Given the description of an element on the screen output the (x, y) to click on. 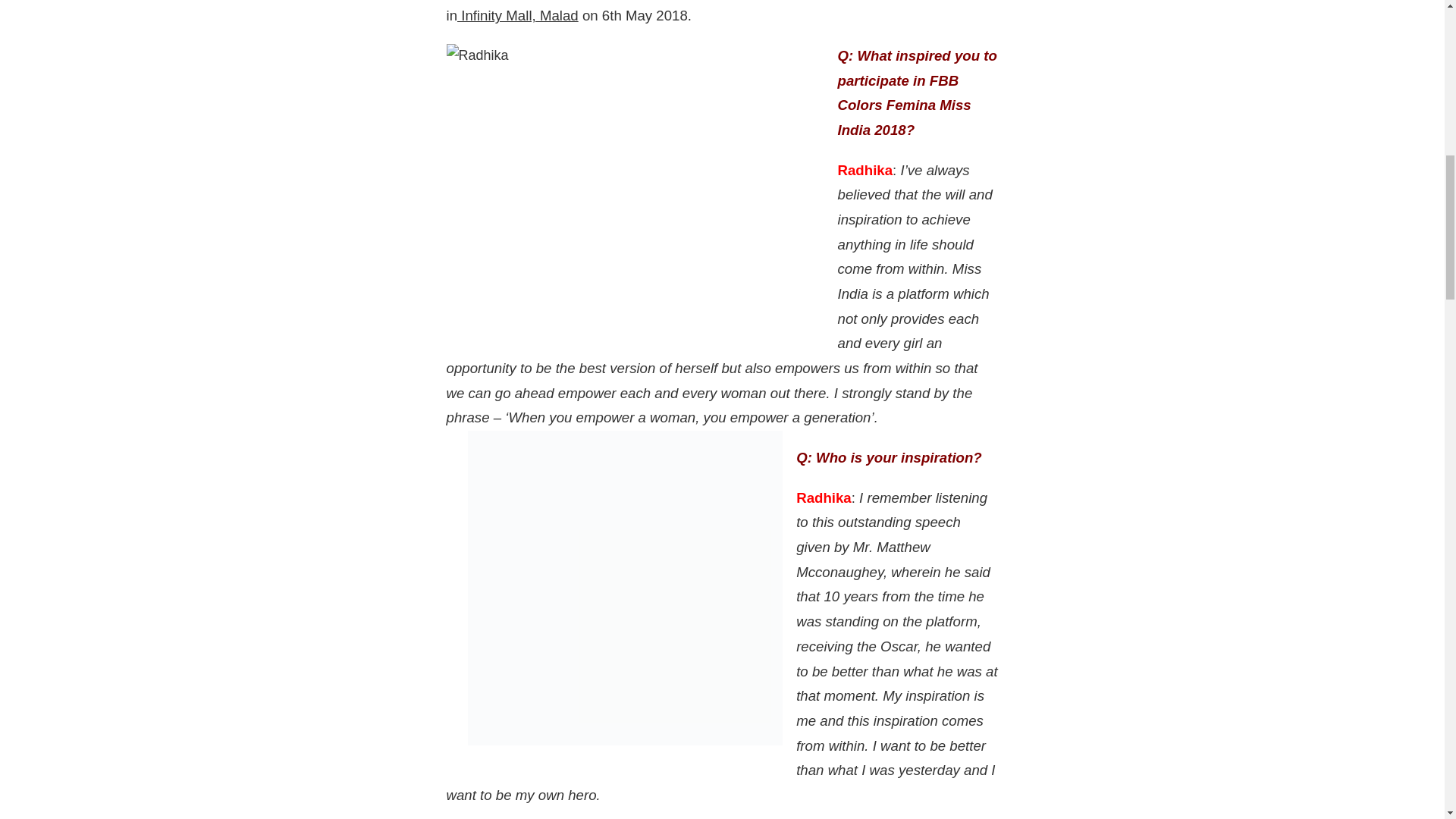
Infinity Mall, Malad (517, 15)
